Given the description of an element on the screen output the (x, y) to click on. 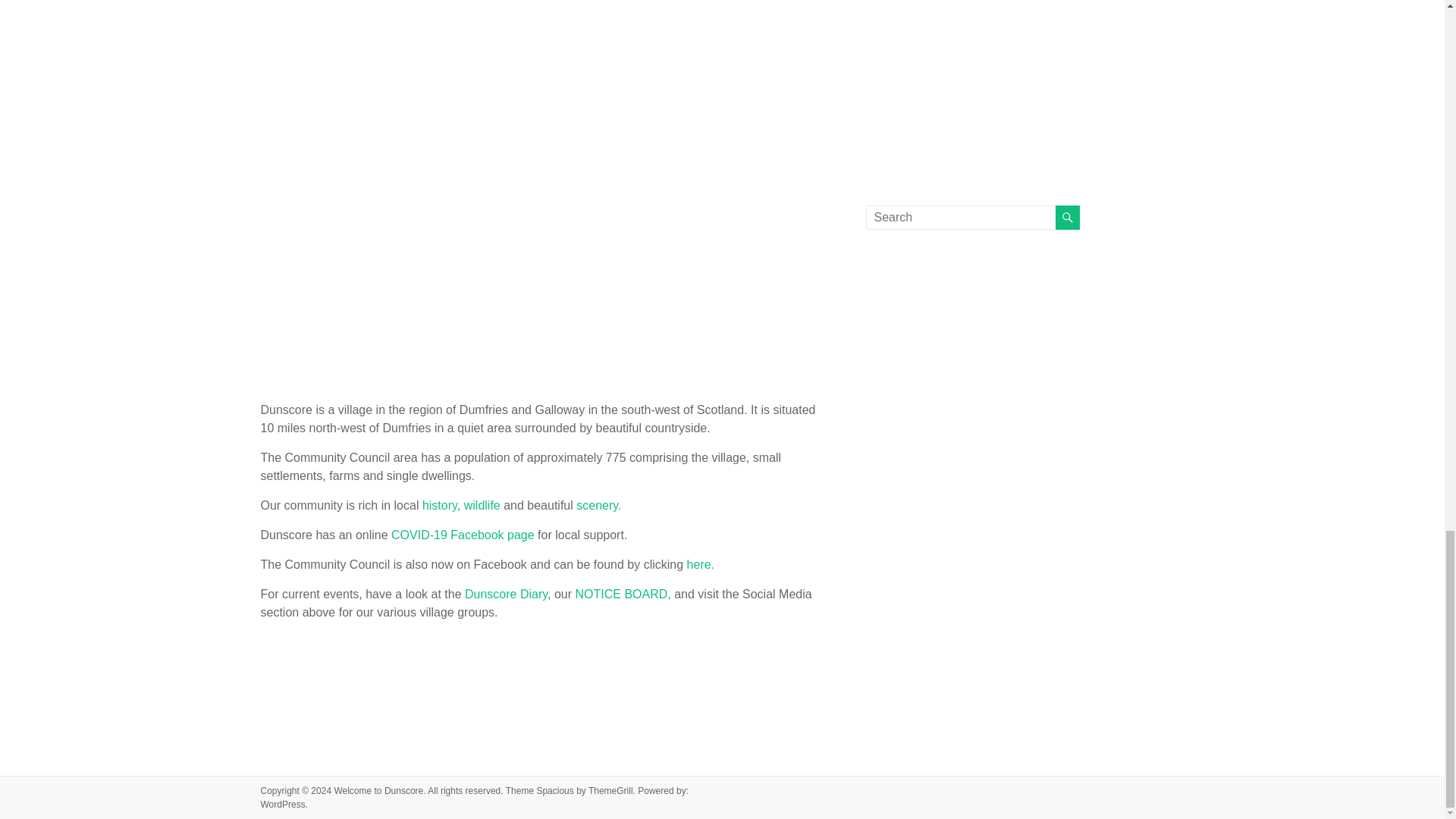
WordPress (282, 804)
Spacious (554, 790)
Welcome to Dunscore (378, 790)
